Given the description of an element on the screen output the (x, y) to click on. 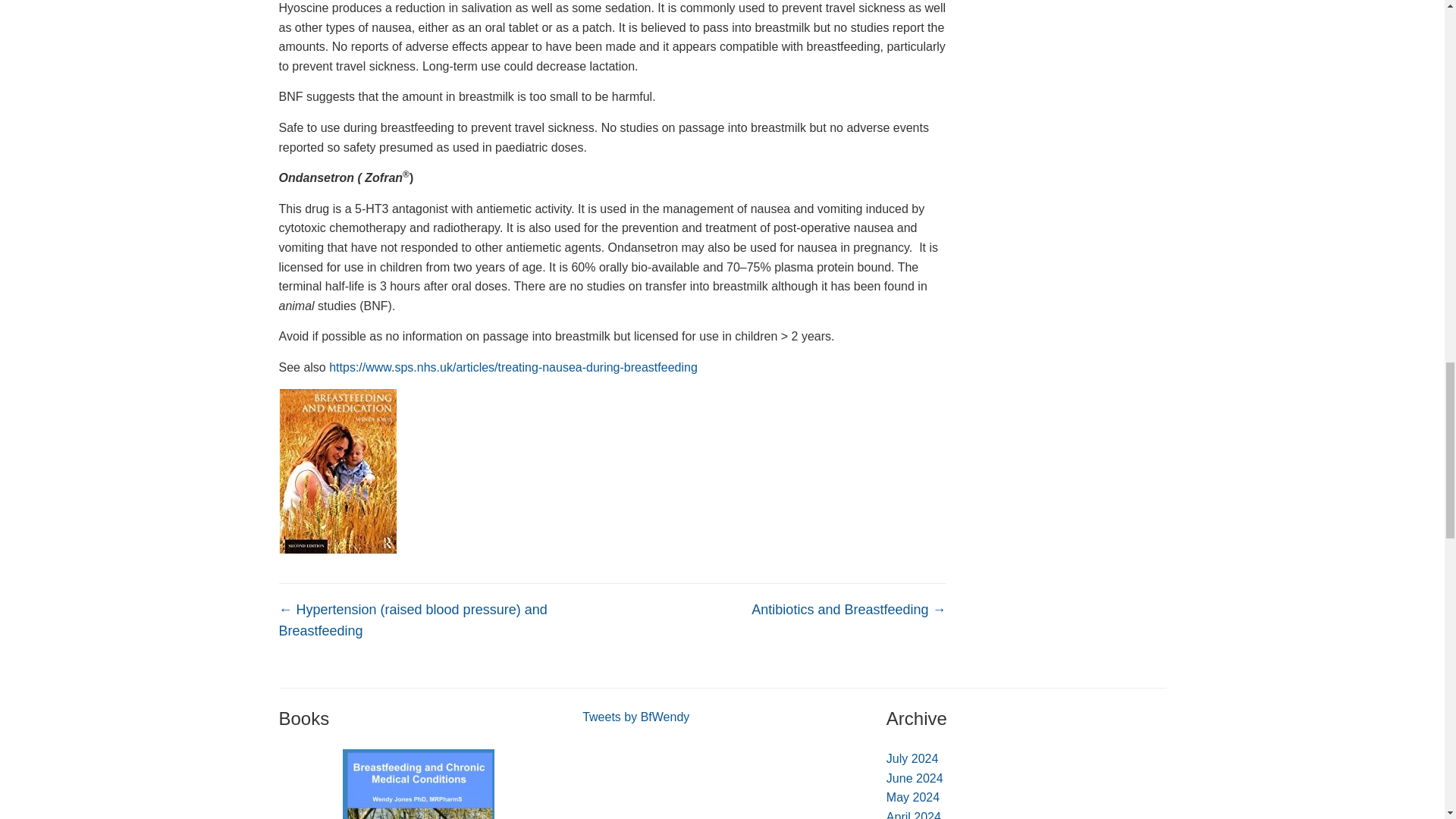
Breastfeeding and Chronic Medical Conditions, Wendy Jones (418, 784)
